Given the description of an element on the screen output the (x, y) to click on. 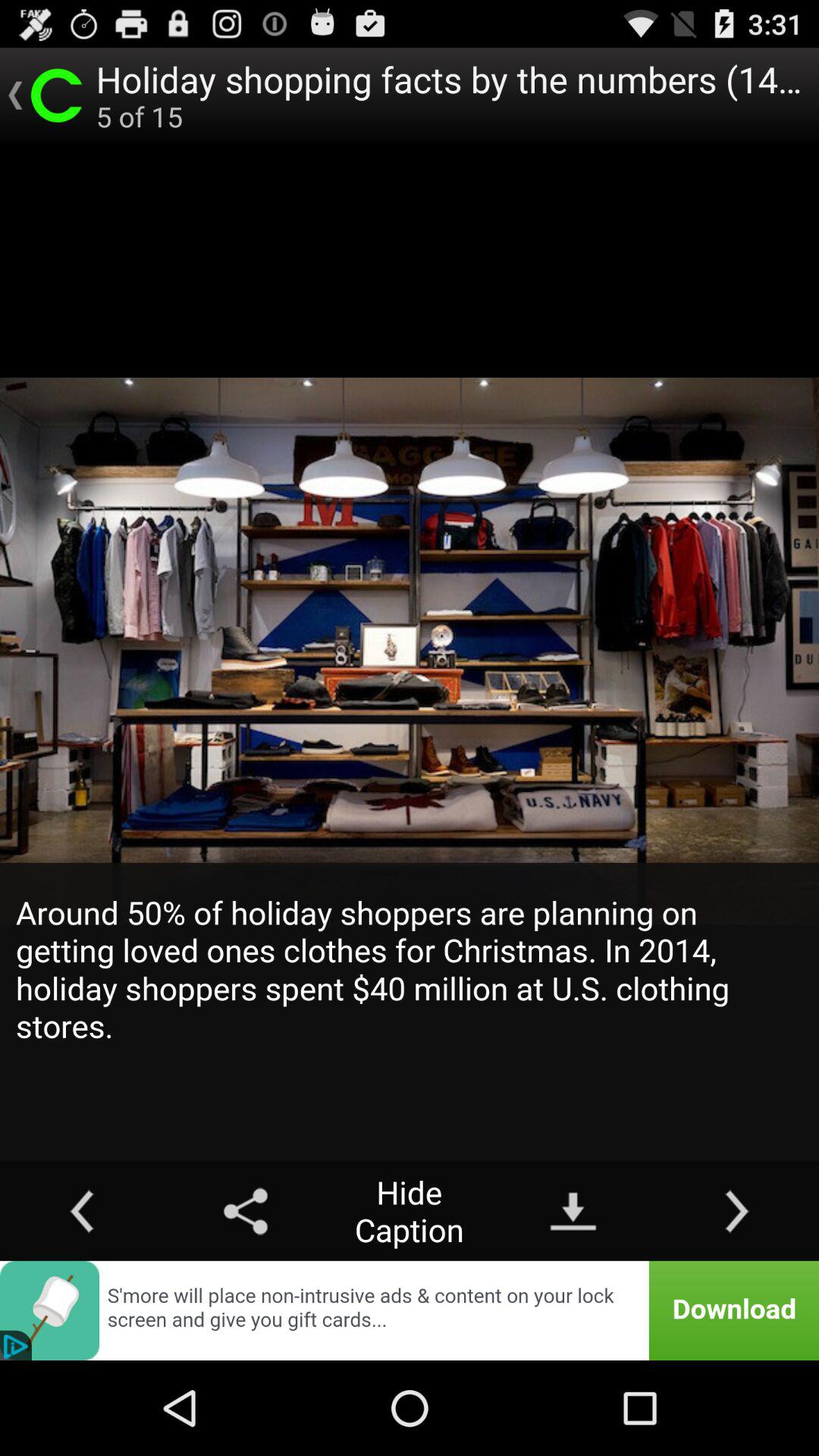
jump to the hide caption icon (409, 1210)
